Given the description of an element on the screen output the (x, y) to click on. 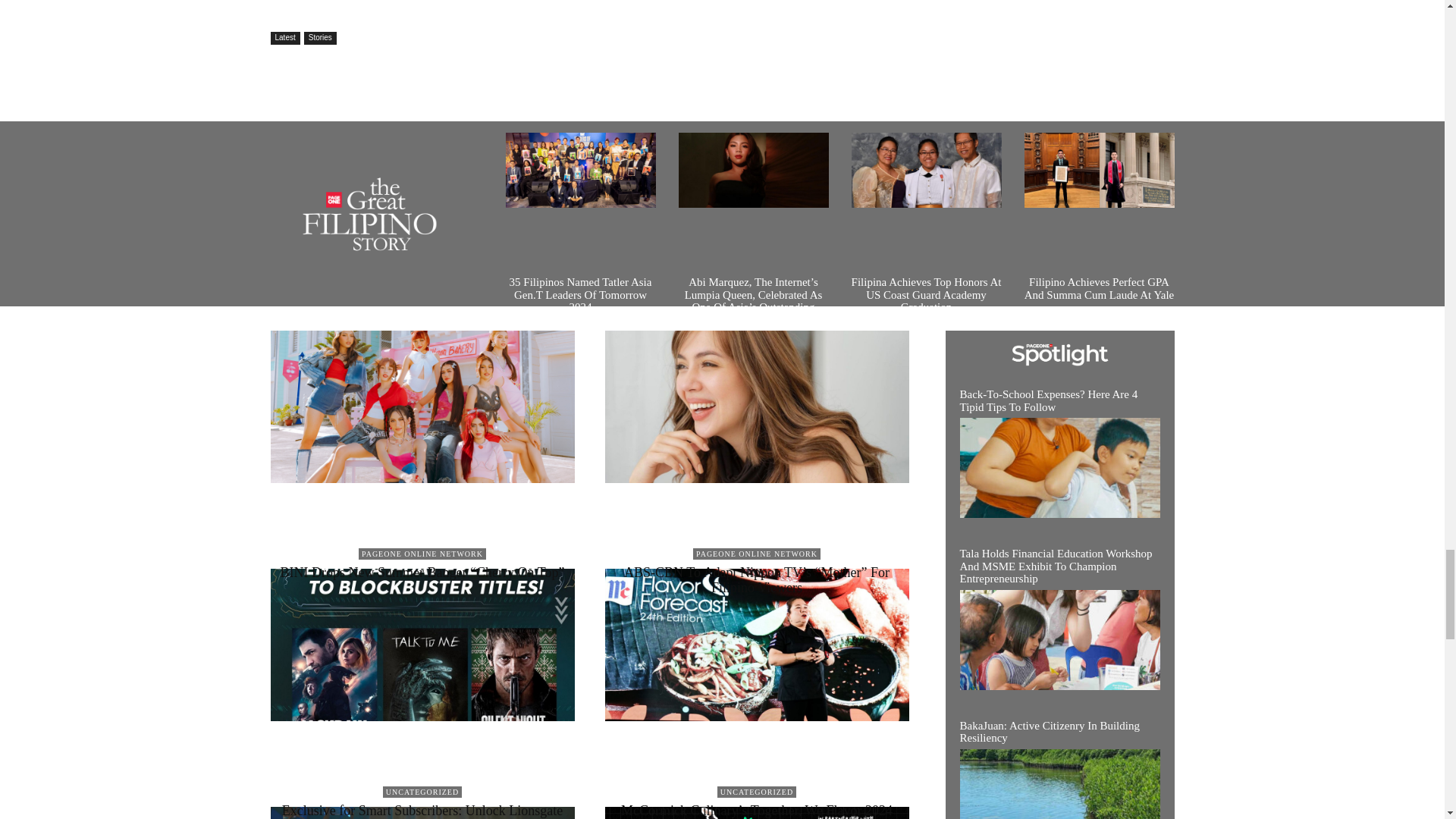
Latest (284, 38)
Stories (320, 38)
